Given the description of an element on the screen output the (x, y) to click on. 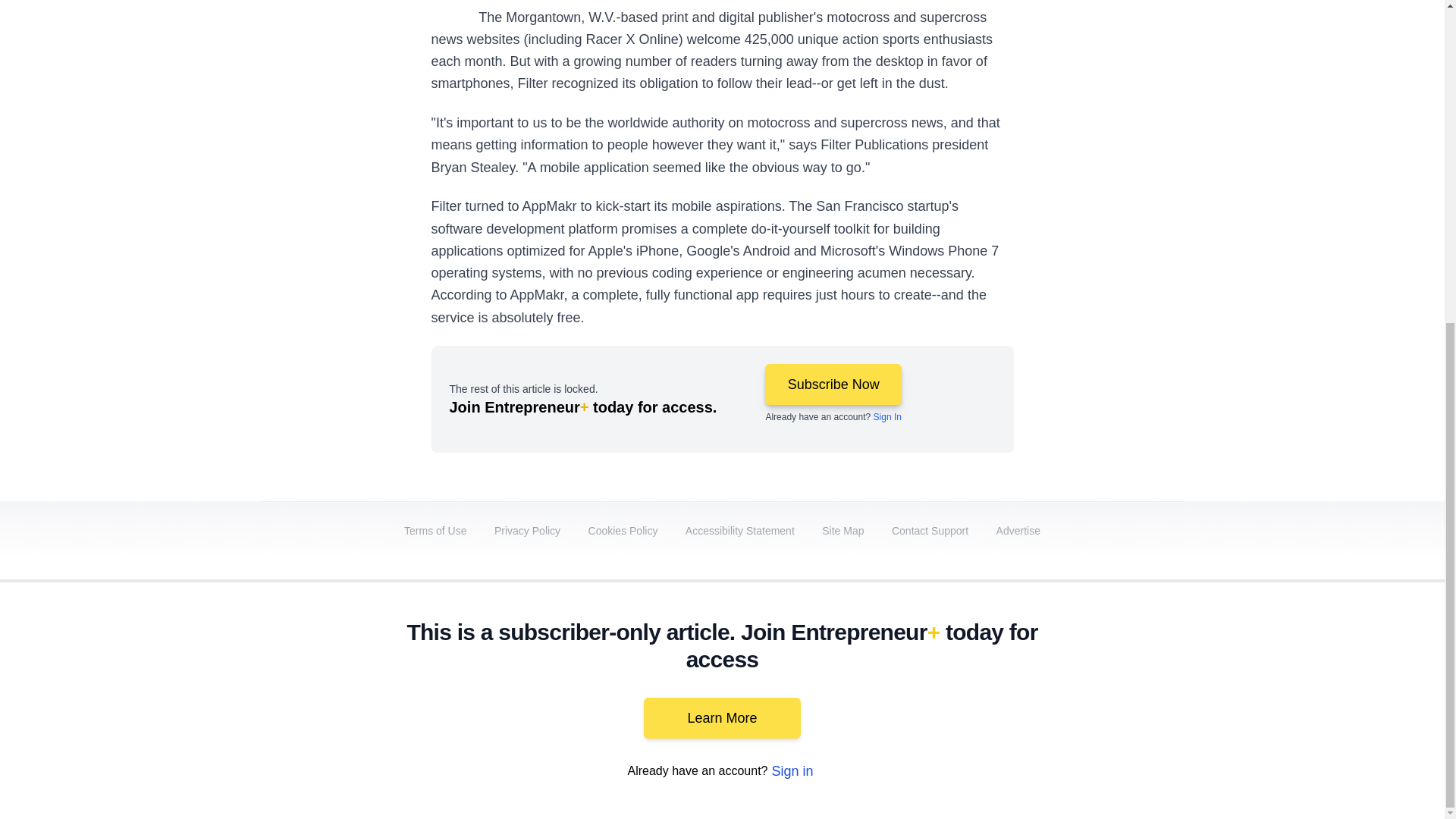
rss (1164, 691)
twitter (909, 691)
tiktok (1079, 691)
snapchat (1121, 691)
facebook (866, 691)
linkedin (952, 691)
instagram (1037, 691)
youtube (994, 691)
